Given the description of an element on the screen output the (x, y) to click on. 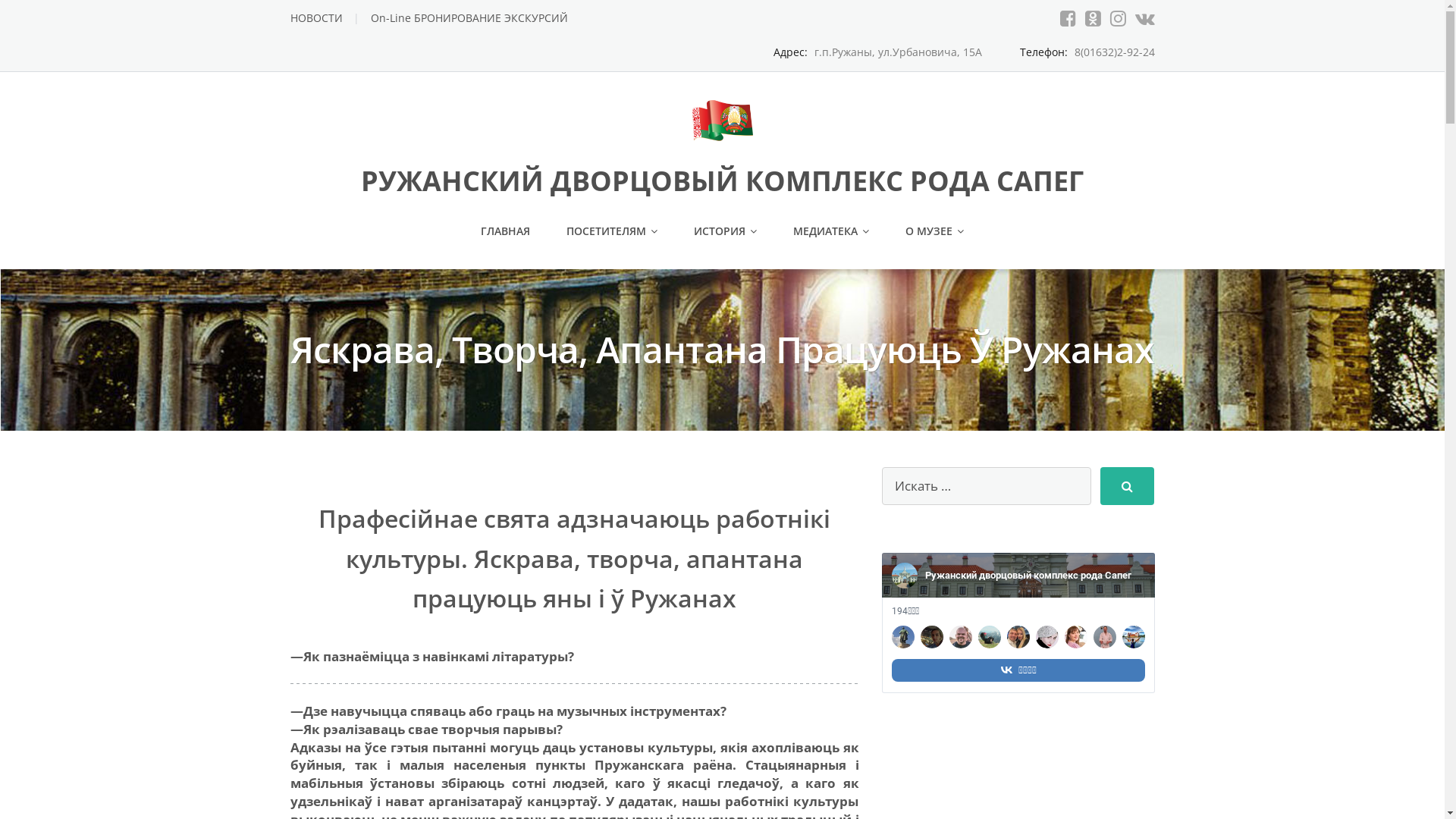
Instagram Element type: hover (1118, 18)
Facebook Element type: hover (1068, 18)
Ok Element type: hover (1092, 18)
Vk Element type: hover (1144, 18)
